Given the description of an element on the screen output the (x, y) to click on. 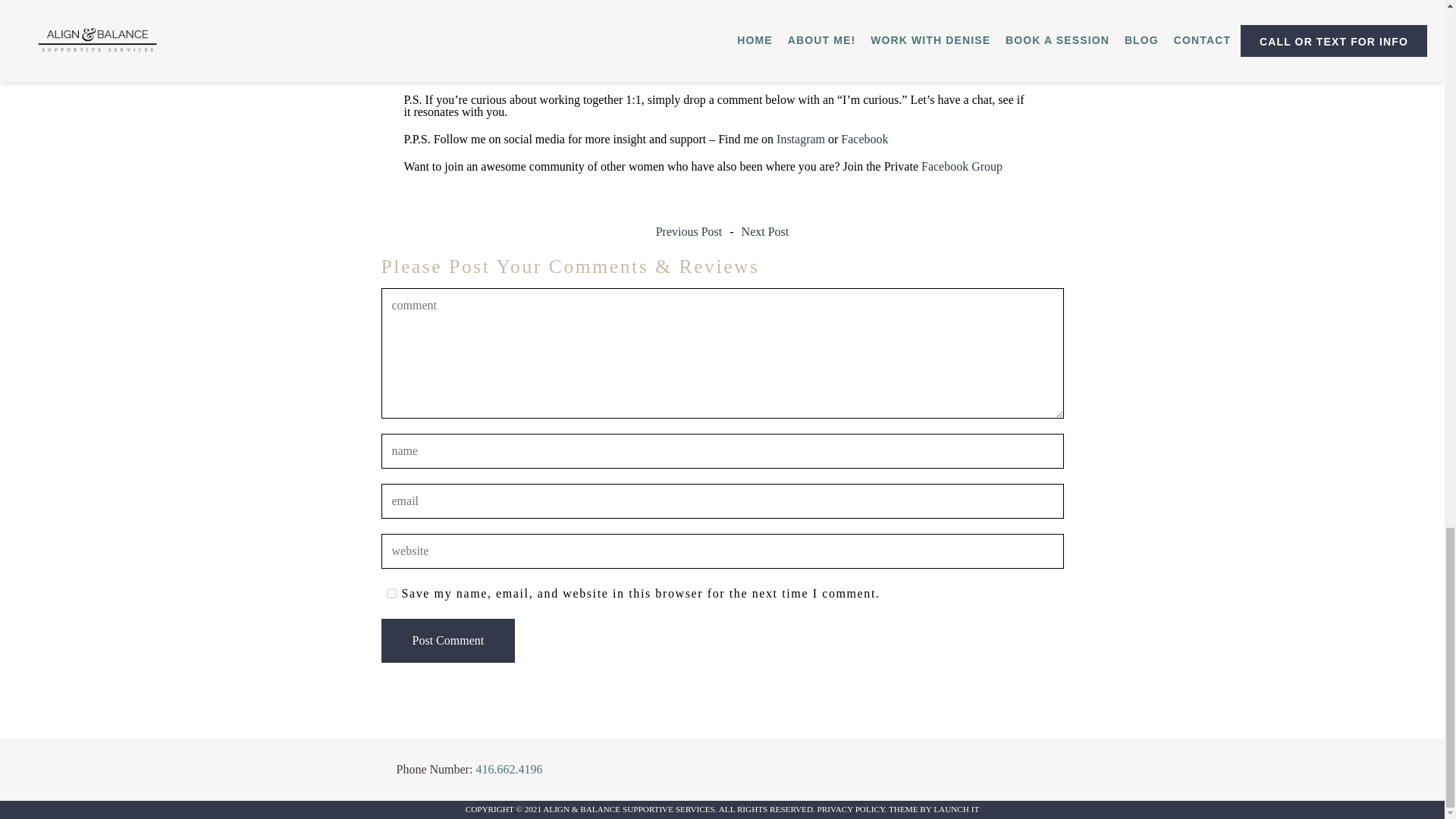
THEME BY LAUNCH IT (933, 809)
Post Comment (447, 640)
 Facebook (863, 138)
Post Comment (447, 640)
yes (391, 593)
PRIVACY POLICY (850, 809)
 Instagram (799, 138)
416.662.4196 (508, 768)
Next Post (765, 232)
Previous Post (689, 232)
 Facebook Group (960, 165)
